Given the description of an element on the screen output the (x, y) to click on. 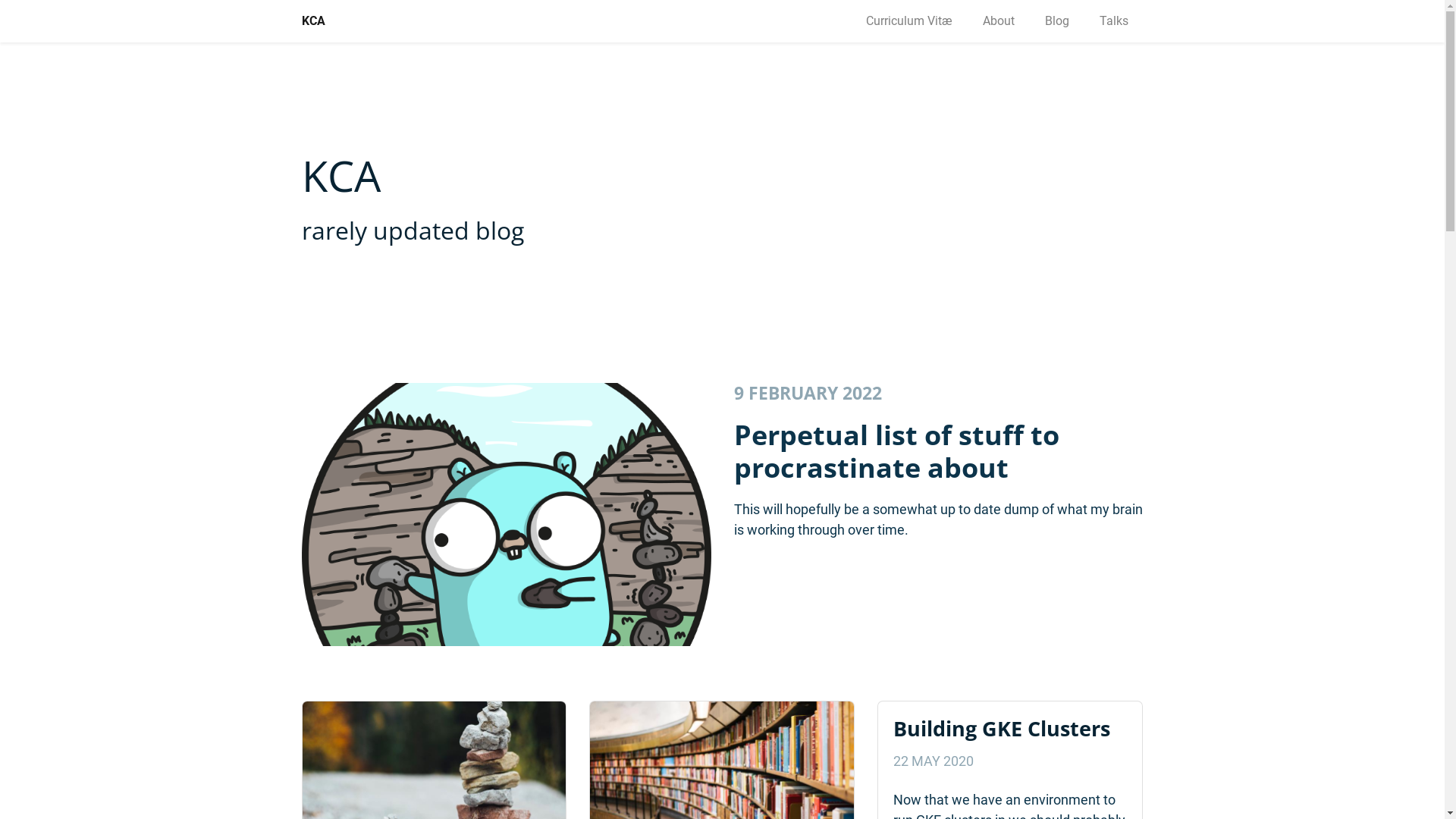
KCA Element type: text (313, 20)
Blog Element type: text (1056, 21)
Talks Element type: text (1113, 21)
Perpetual list of stuff to procrastinate about Element type: text (896, 451)
About Element type: text (998, 21)
